Given the description of an element on the screen output the (x, y) to click on. 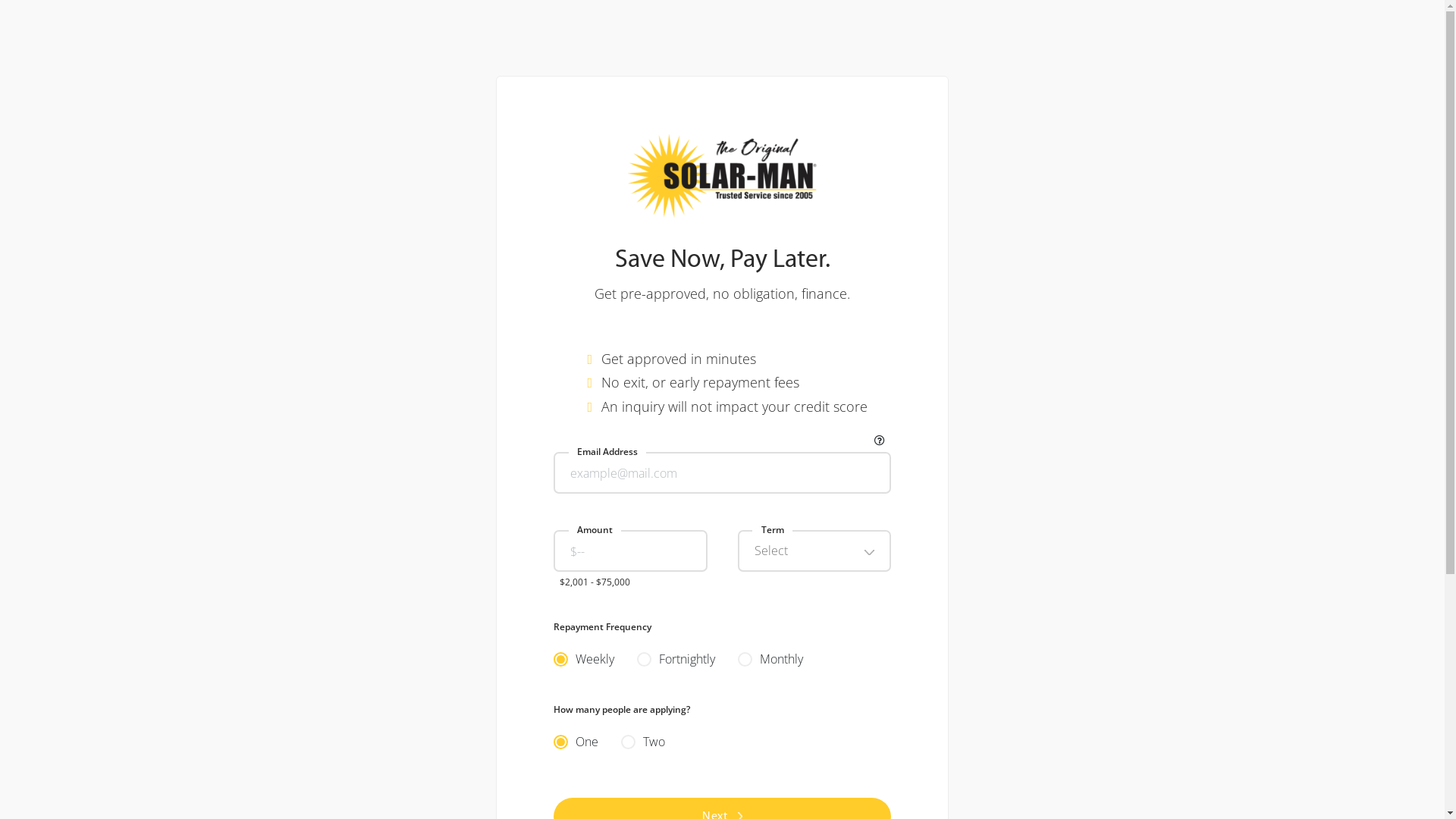
Select Element type: text (814, 550)
